Given the description of an element on the screen output the (x, y) to click on. 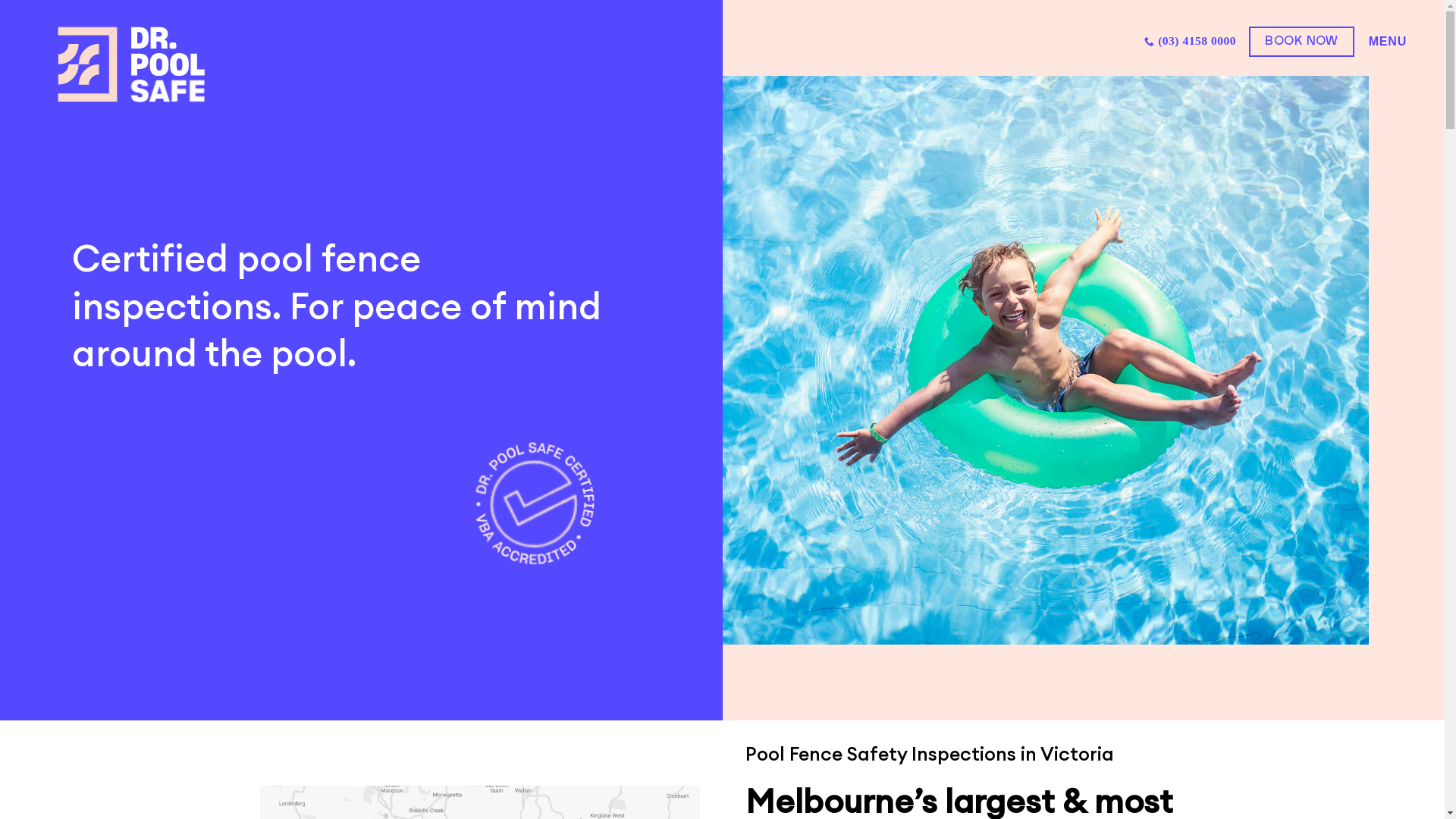
(03) 4158 0000 Element type: text (1190, 41)
BOOK NOW Element type: text (1300, 41)
Skip to content Element type: text (0, 0)
MENU Element type: text (1385, 41)
